Given the description of an element on the screen output the (x, y) to click on. 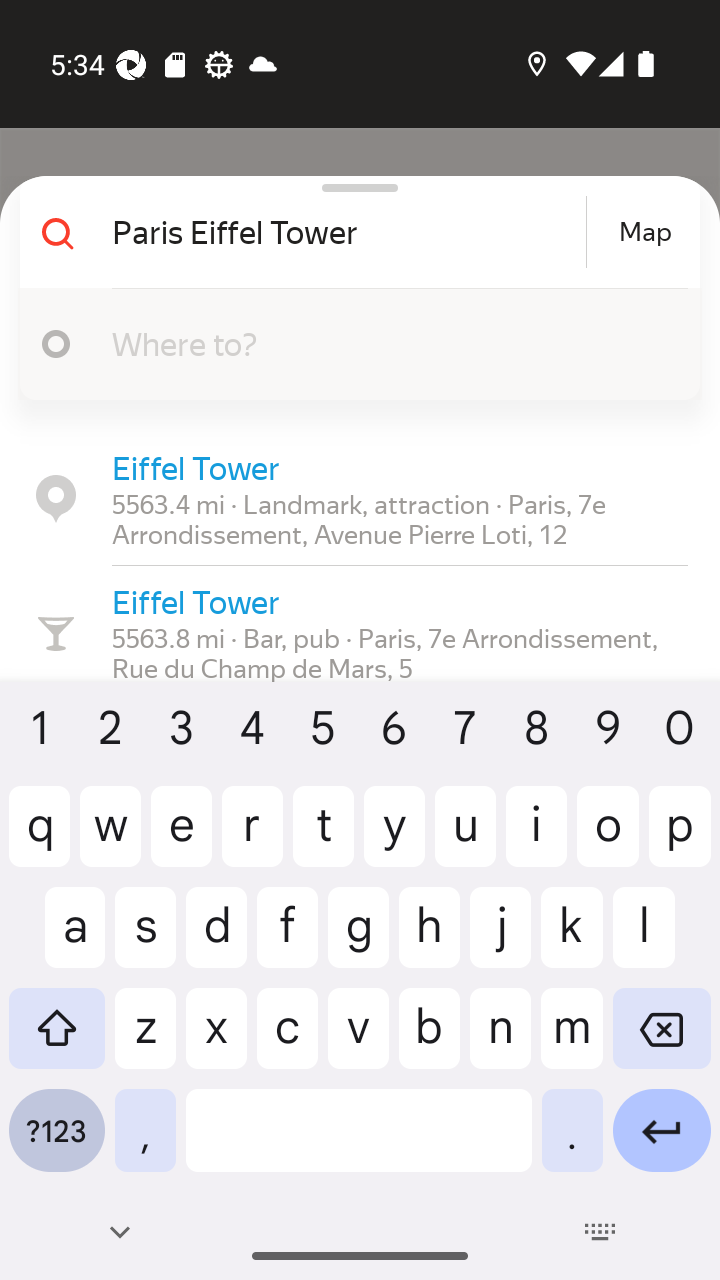
Paris Eiffel Tower Map Map (352, 232)
Map (645, 232)
Paris Eiffel Tower (346, 232)
Where to? (352, 343)
Where to? (390, 343)
